Given the description of an element on the screen output the (x, y) to click on. 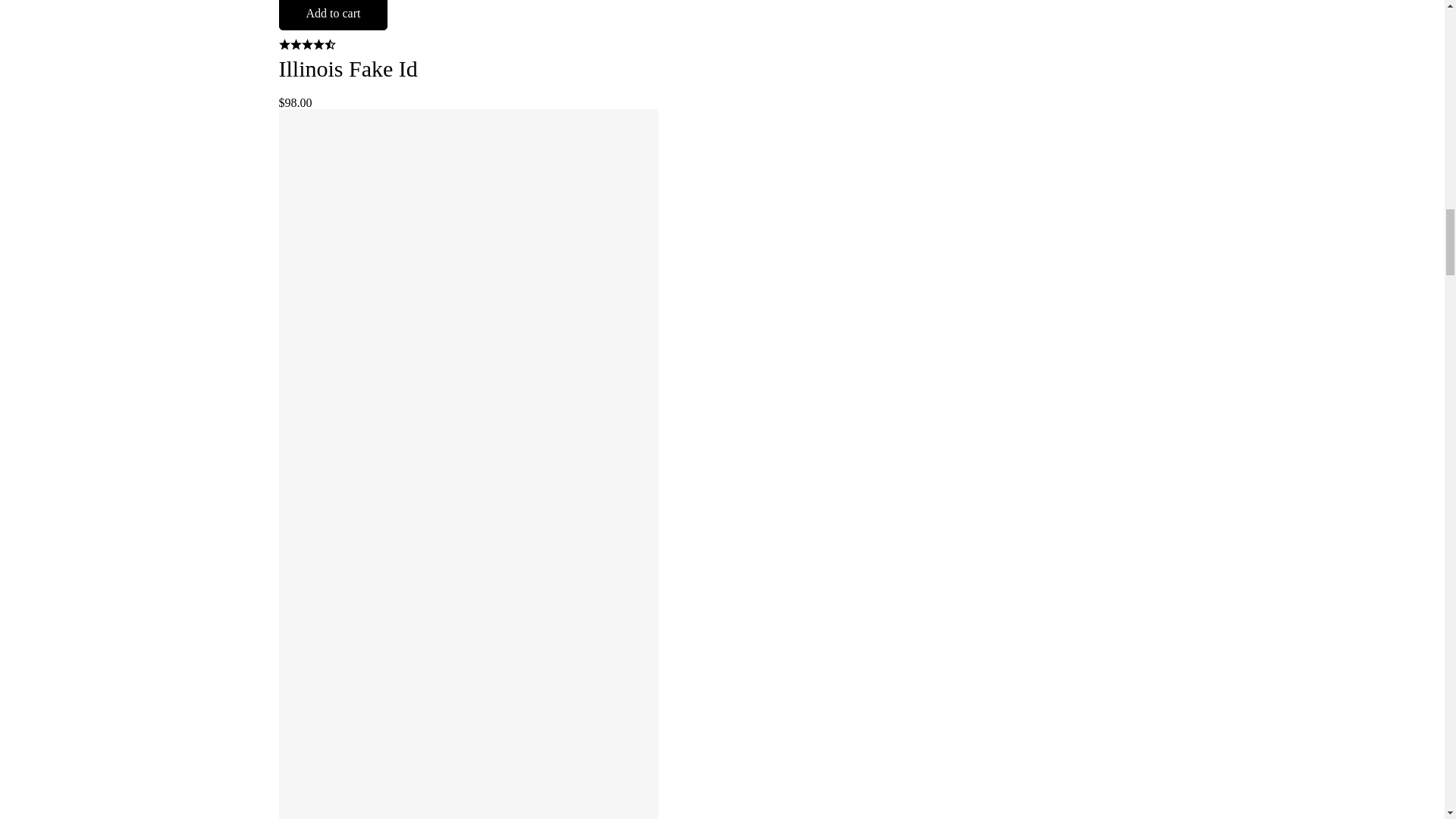
Illinois Fake Id (348, 68)
Add to cart (333, 15)
